Given the description of an element on the screen output the (x, y) to click on. 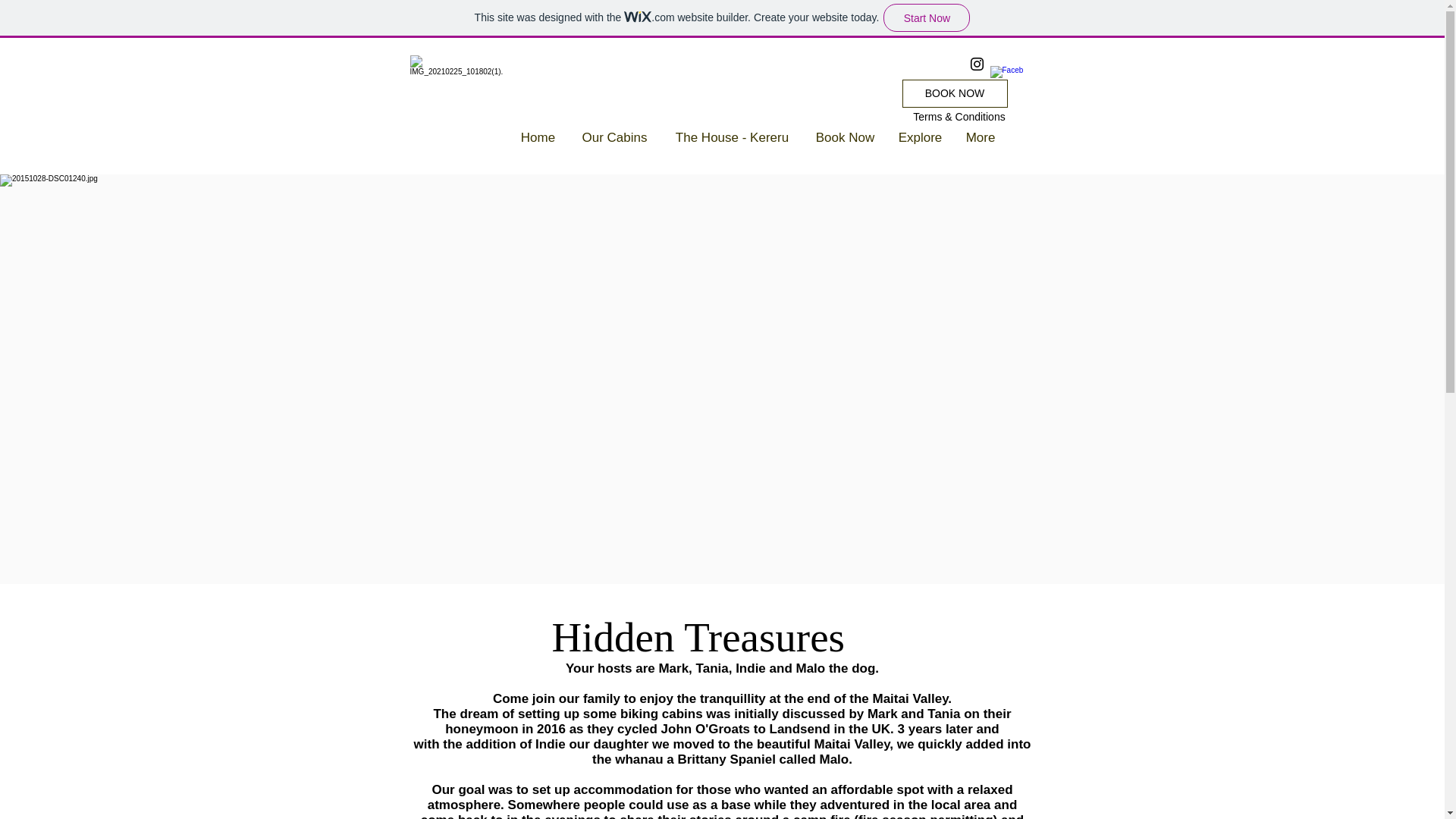
BOOK NOW (954, 93)
Our Cabins (615, 137)
Home (538, 137)
The House - Kereru (732, 137)
Explore (919, 137)
Book Now (844, 137)
